Given the description of an element on the screen output the (x, y) to click on. 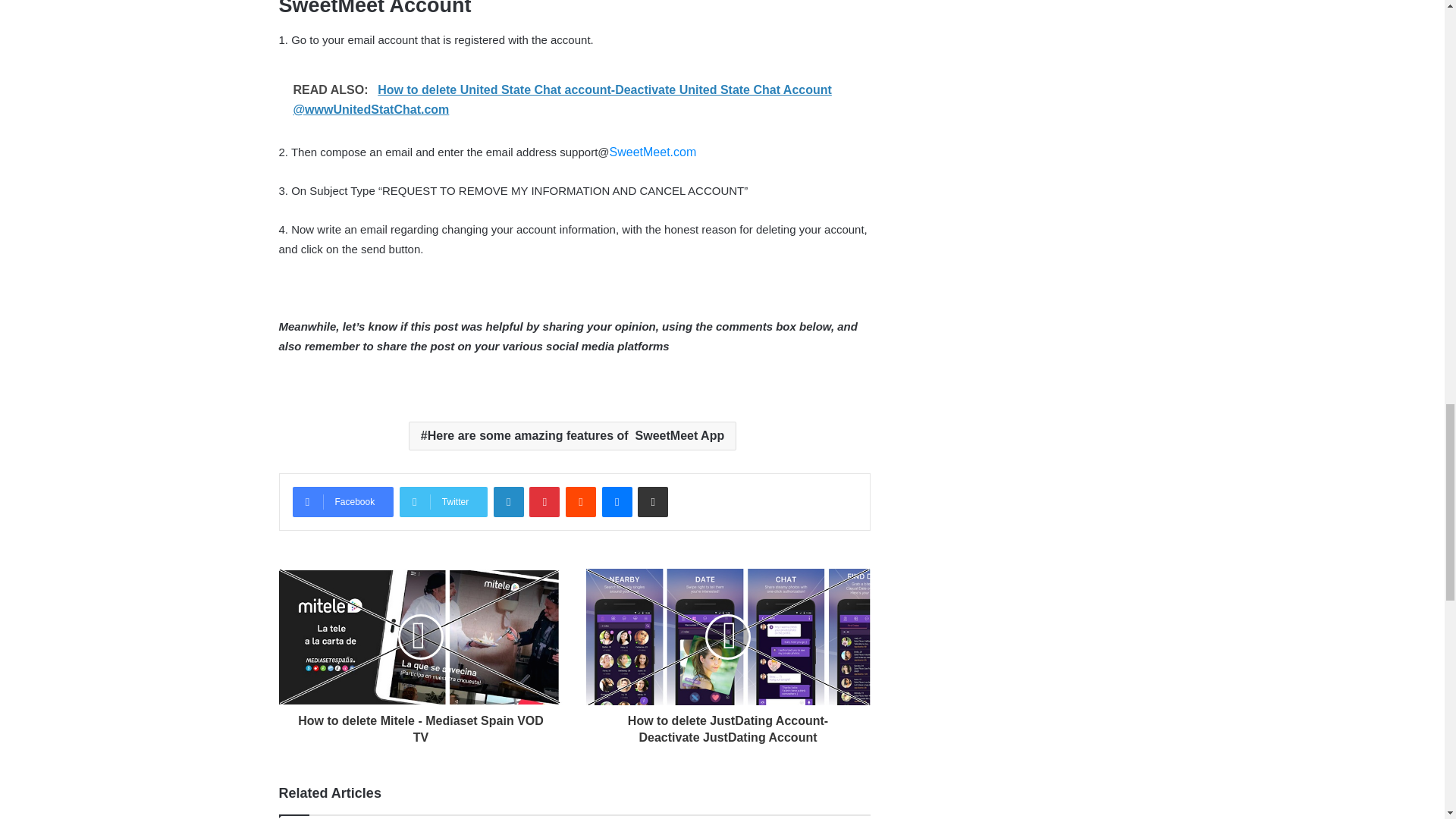
Pinterest (544, 501)
Twitter (442, 501)
Share via Email (652, 501)
Facebook (343, 501)
SweetMeet.com (653, 151)
LinkedIn (508, 501)
Reddit (580, 501)
Share via Email (652, 501)
Pinterest (544, 501)
Twitter (442, 501)
